Given the description of an element on the screen output the (x, y) to click on. 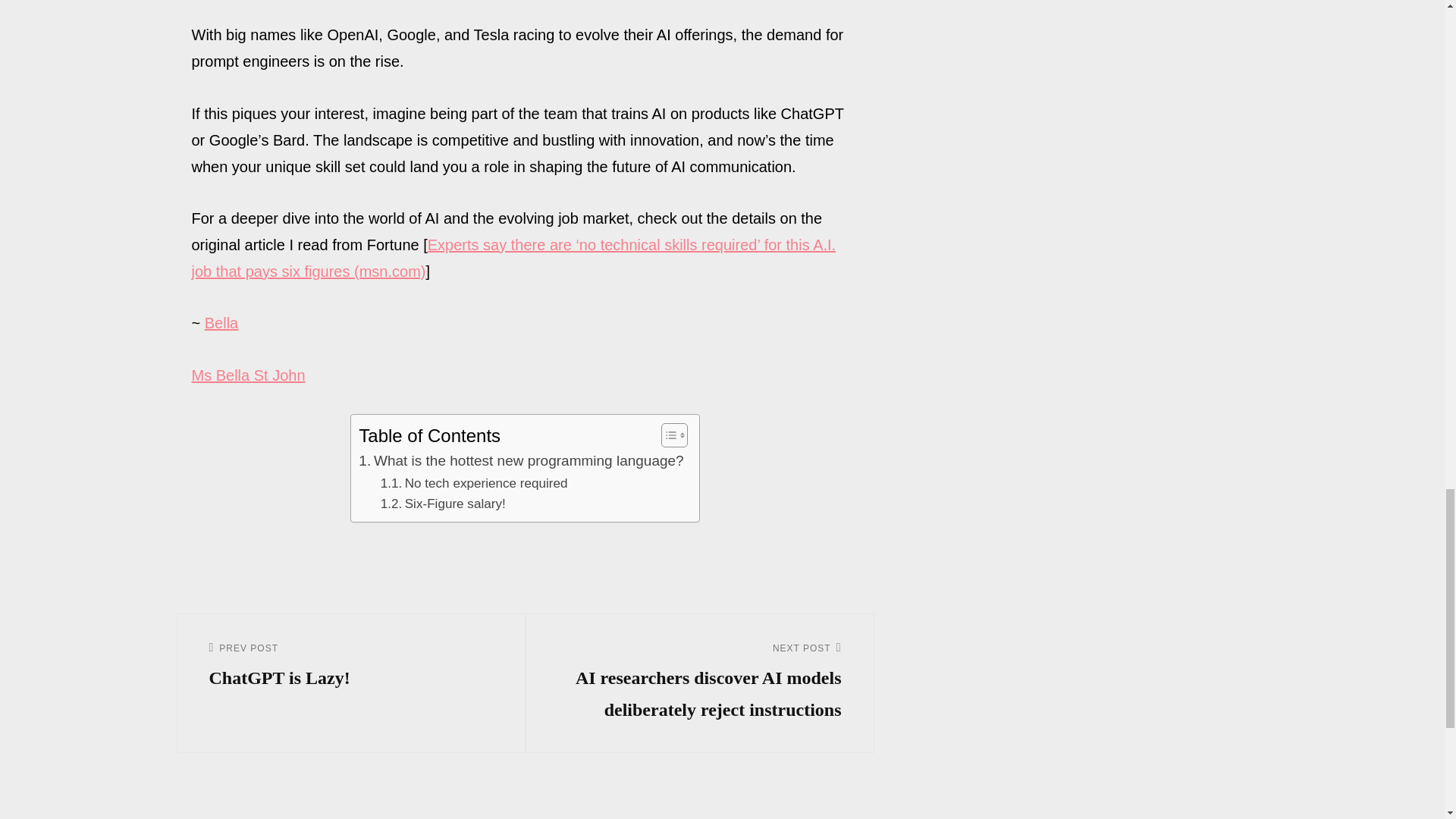
Six-Figure salary! (442, 503)
What is the hottest new programming language? (520, 460)
Bella (221, 322)
What is the hottest new programming language? (351, 666)
No tech experience required (520, 460)
Ms Bella St John (473, 483)
No tech experience required (247, 375)
Six-Figure salary! (473, 483)
